Given the description of an element on the screen output the (x, y) to click on. 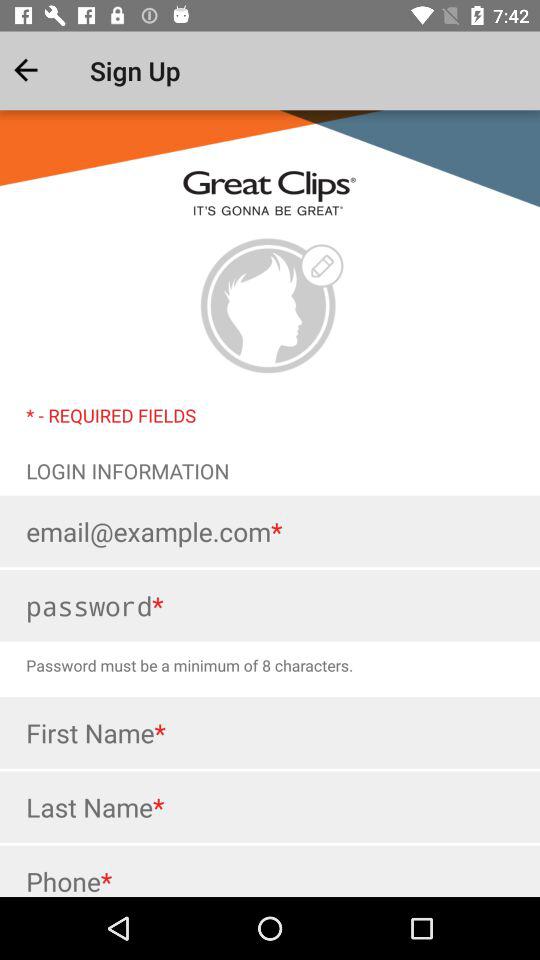
first name (269, 732)
